Given the description of an element on the screen output the (x, y) to click on. 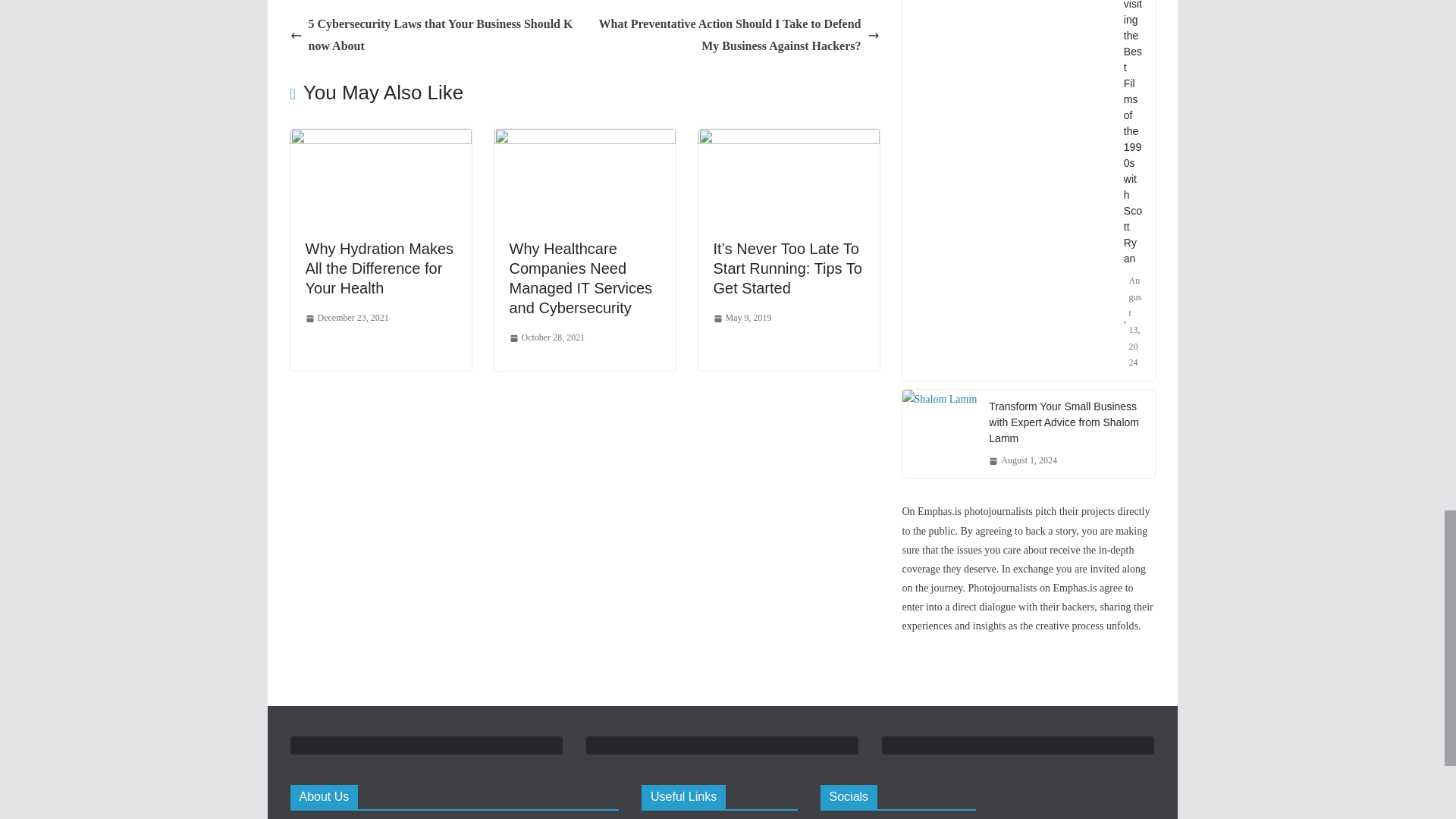
Why Hydration Makes All the Difference for Your Health (379, 138)
December 23, 2021 (346, 318)
11:25 pm (346, 318)
May 9, 2019 (742, 318)
October 28, 2021 (547, 338)
Why Hydration Makes All the Difference for Your Health (378, 268)
5 Cybersecurity Laws that Your Business Should Know About (432, 35)
